Given the description of an element on the screen output the (x, y) to click on. 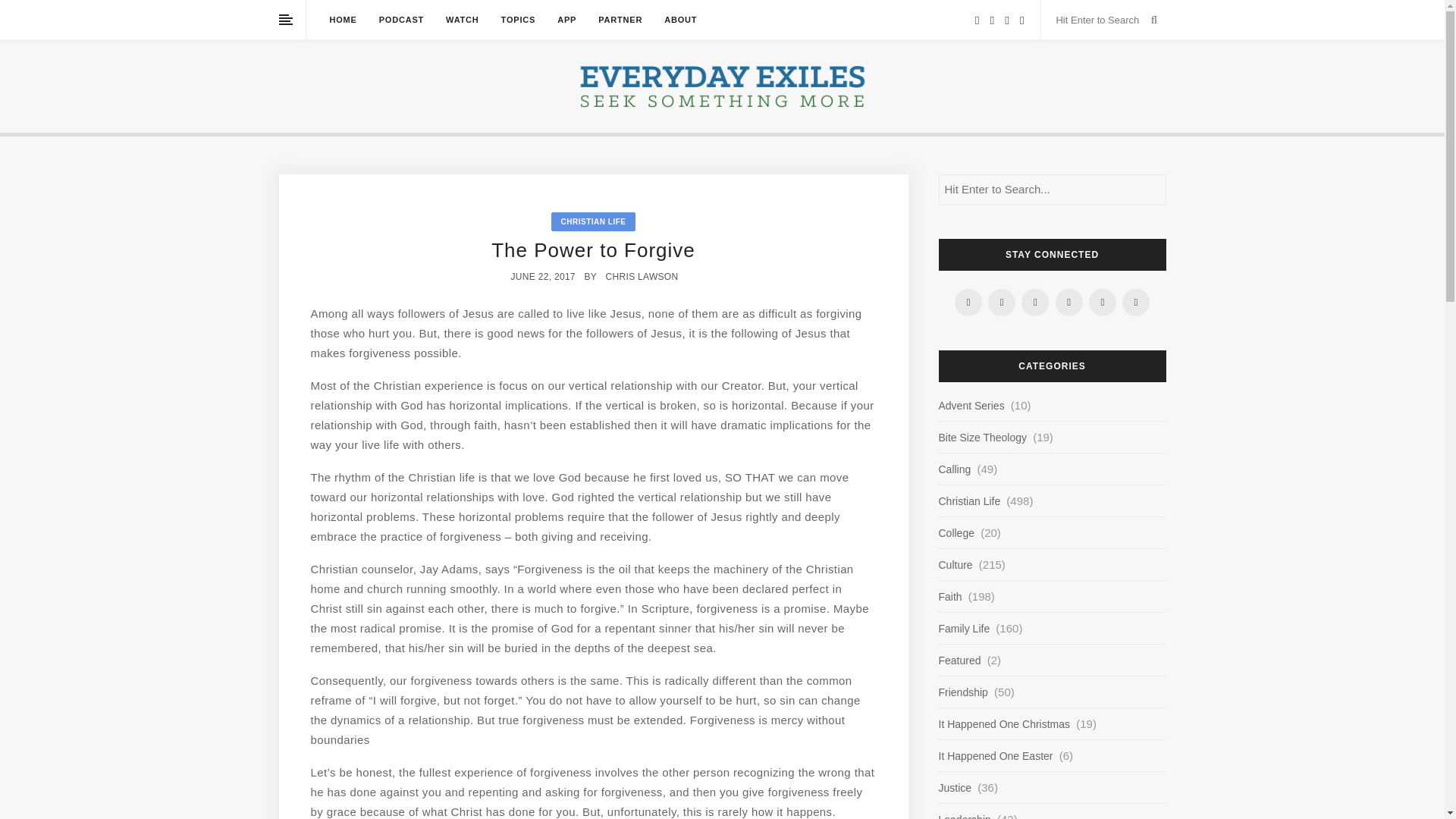
Hit Enter to Search (1099, 20)
PARTNER (620, 19)
PODCAST (400, 19)
HOME (342, 19)
APP (566, 19)
WATCH (462, 19)
TOPICS (517, 19)
Hit Enter to Search (1099, 20)
